Given the description of an element on the screen output the (x, y) to click on. 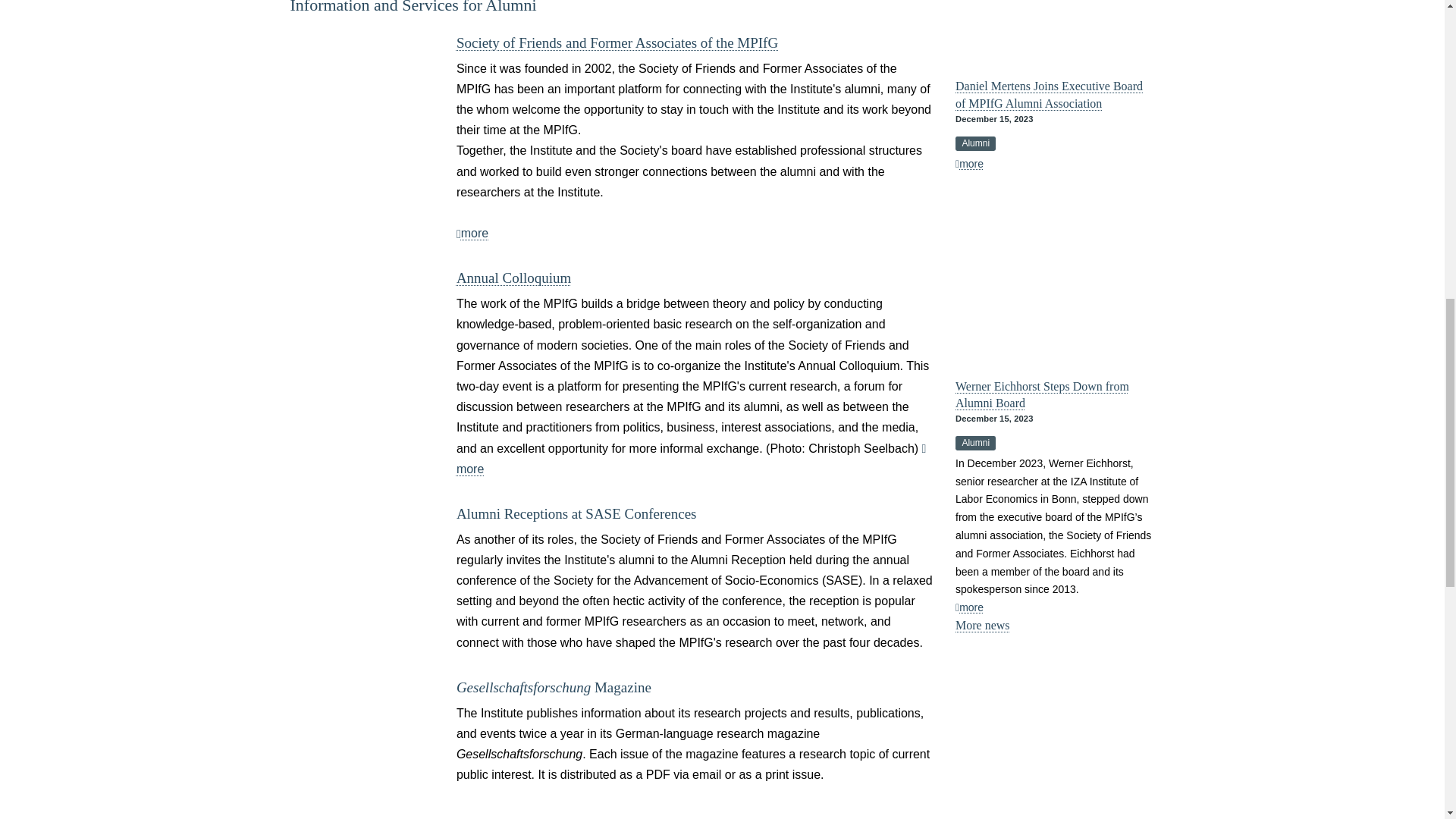
Werner Eichhorst Steps Down from Alumni Board (1054, 274)
Werner Eichhorst Steps Down from Alumni Board (969, 607)
